Given the description of an element on the screen output the (x, y) to click on. 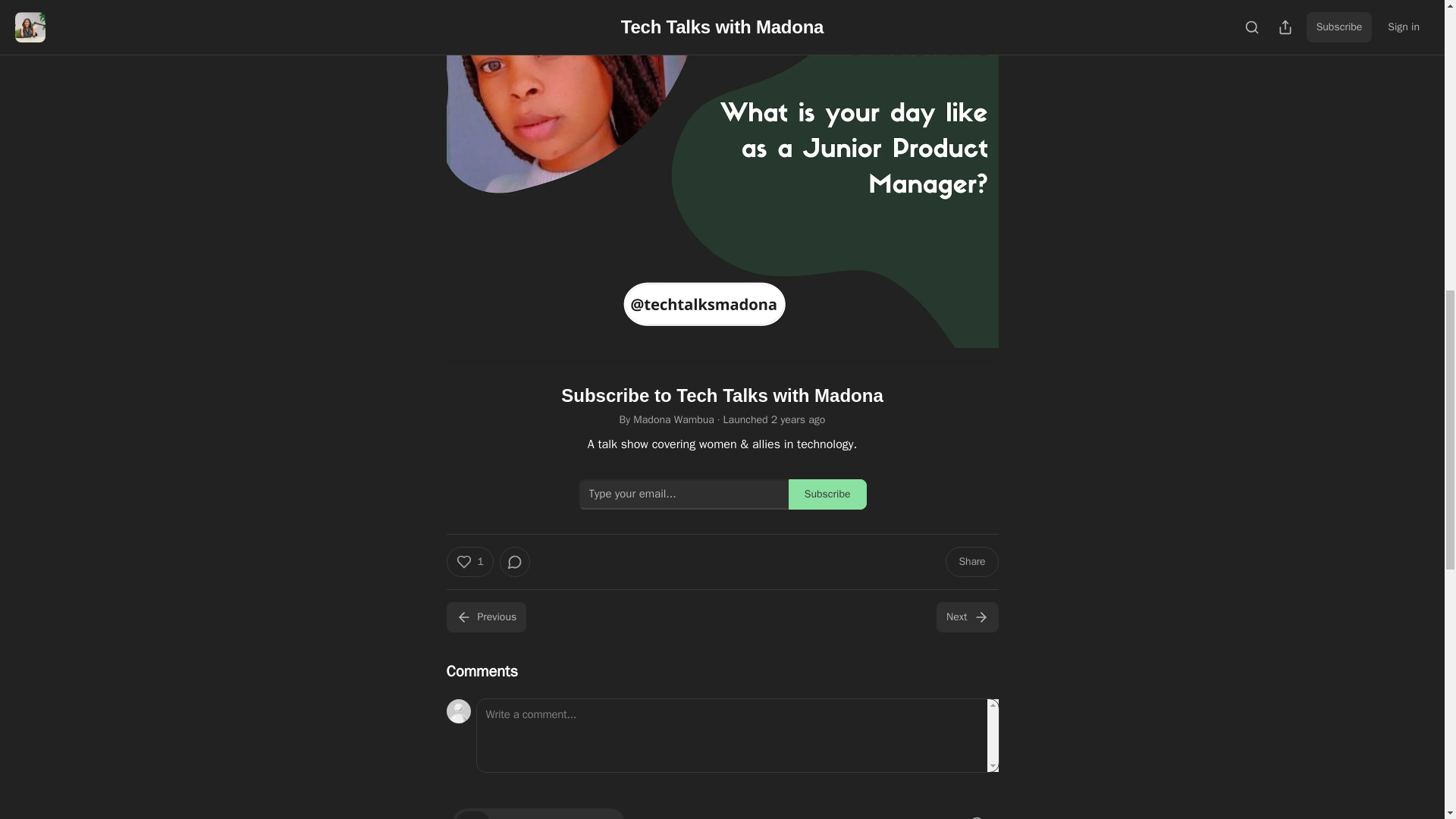
Previous (485, 616)
Subscribe (827, 494)
Top (471, 815)
1 (469, 562)
Next (966, 616)
Share (970, 562)
